Given the description of an element on the screen output the (x, y) to click on. 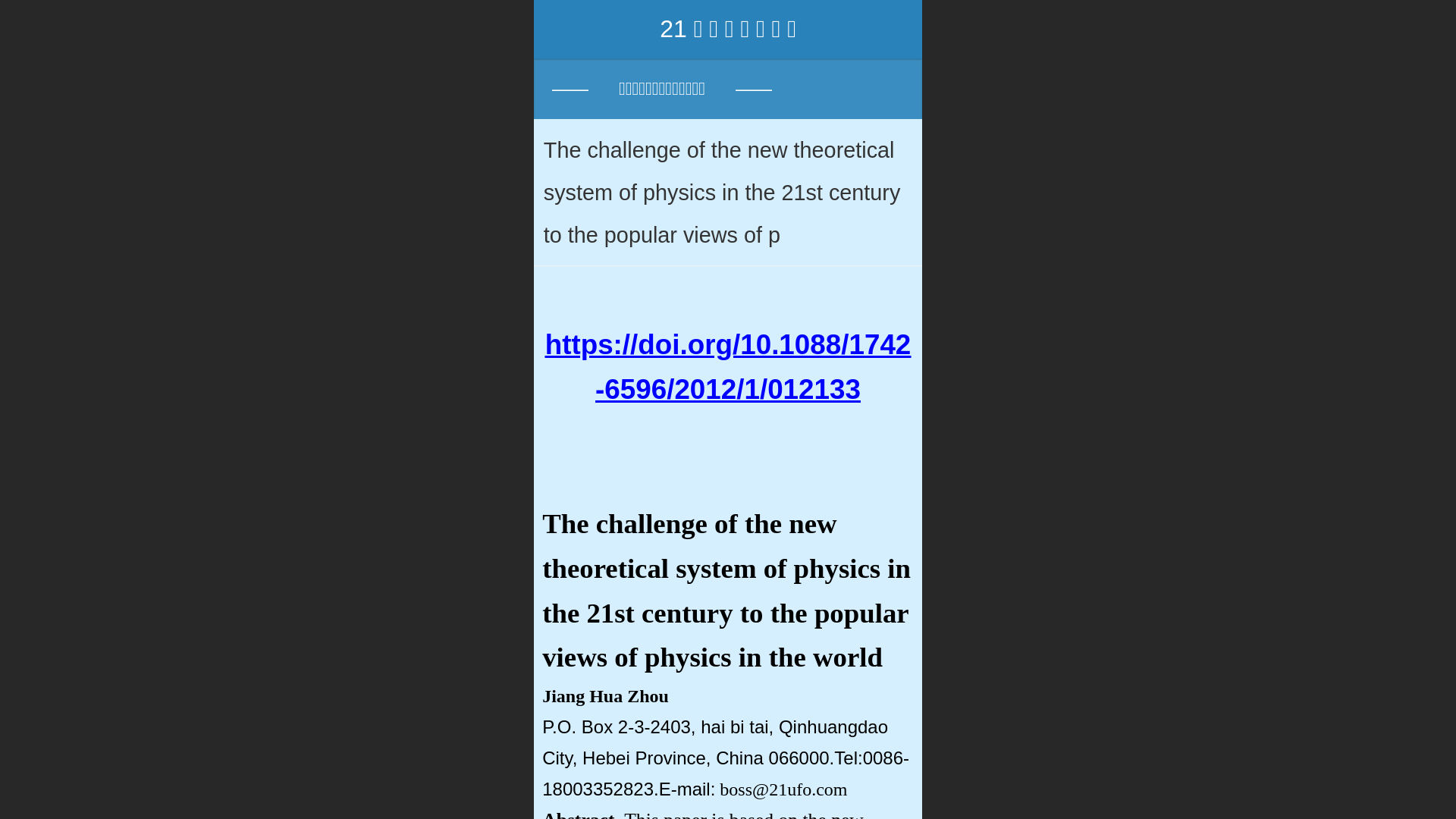
https://doi.org/10.1088/1742-6596/2012/1/012133 Element type: text (728, 366)
